Given the description of an element on the screen output the (x, y) to click on. 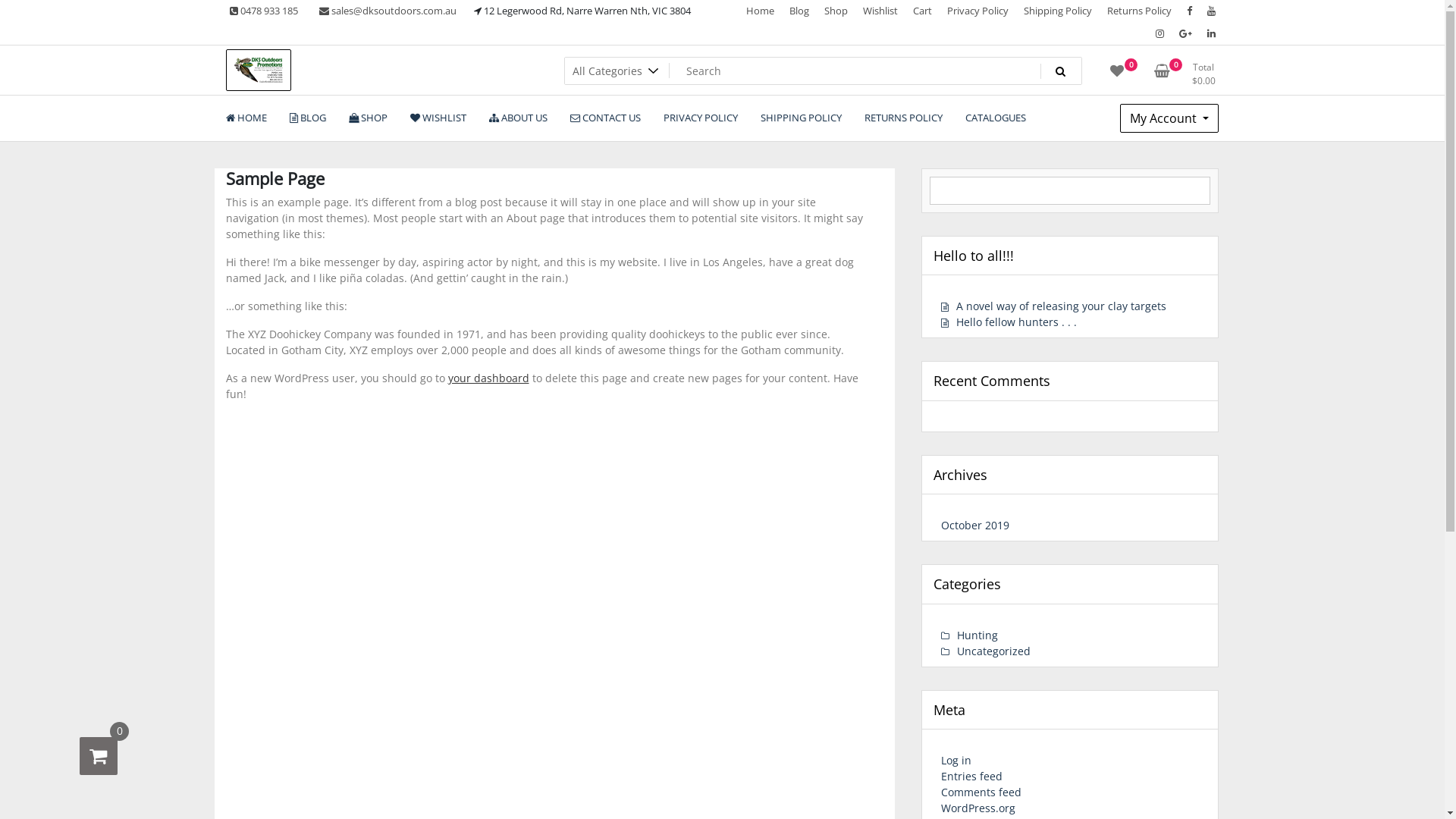
Entries feed Element type: text (971, 775)
Hello fellow hunters . . . Element type: text (1008, 321)
SHIPPING POLICY Element type: text (801, 118)
Uncategorized Element type: text (985, 650)
WordPress.org Element type: text (978, 807)
Log in Element type: text (956, 760)
Wishlist Element type: text (879, 11)
Privacy Policy Element type: text (977, 11)
0
Total
$0.00 Element type: text (1188, 75)
DKS Outdoors Promotions Element type: text (370, 107)
Shipping Policy Element type: text (1057, 11)
SHOP Element type: text (367, 118)
ABOUT US Element type: text (517, 118)
BLOG Element type: text (306, 118)
0478 933 185 Element type: text (263, 11)
RETURNS POLICY Element type: text (902, 118)
your dashboard Element type: text (487, 377)
Hunting Element type: text (969, 634)
0 Element type: text (1116, 75)
My Account Element type: text (1169, 117)
PRIVACY POLICY Element type: text (700, 118)
CATALOGUES Element type: text (995, 118)
A novel way of releasing your clay targets Element type: text (1053, 305)
Returns Policy Element type: text (1138, 11)
Shop Element type: text (835, 11)
CONTACT US Element type: text (604, 118)
Cart Element type: text (921, 11)
October 2019 Element type: text (975, 524)
HOME Element type: text (245, 118)
Blog Element type: text (798, 11)
Home Element type: text (759, 11)
sales@dksoutdoors.com.au Element type: text (387, 11)
Comments feed Element type: text (981, 791)
0 Element type: text (98, 756)
WISHLIST Element type: text (437, 118)
Search for: Element type: hover (822, 70)
